Given the description of an element on the screen output the (x, y) to click on. 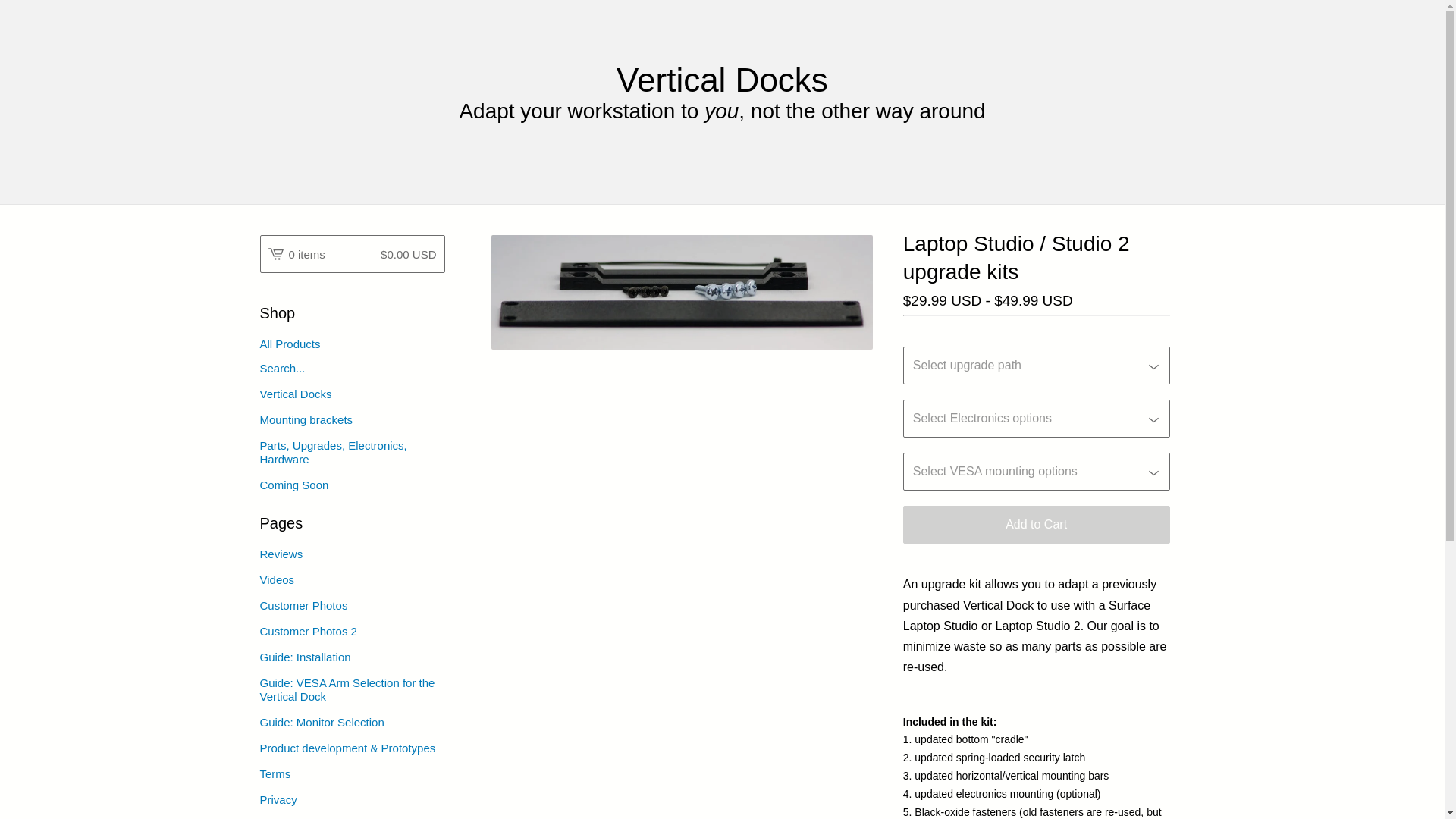
Guide: Installation (351, 657)
Terms (351, 774)
Videos (351, 579)
View Cart (351, 253)
Guide: VESA Arm Selection for the Vertical Dock (351, 690)
View Customer Photos (351, 605)
Vertical Docks (722, 80)
Privacy (351, 800)
Reviews (351, 554)
Coming Soon (351, 484)
